Given the description of an element on the screen output the (x, y) to click on. 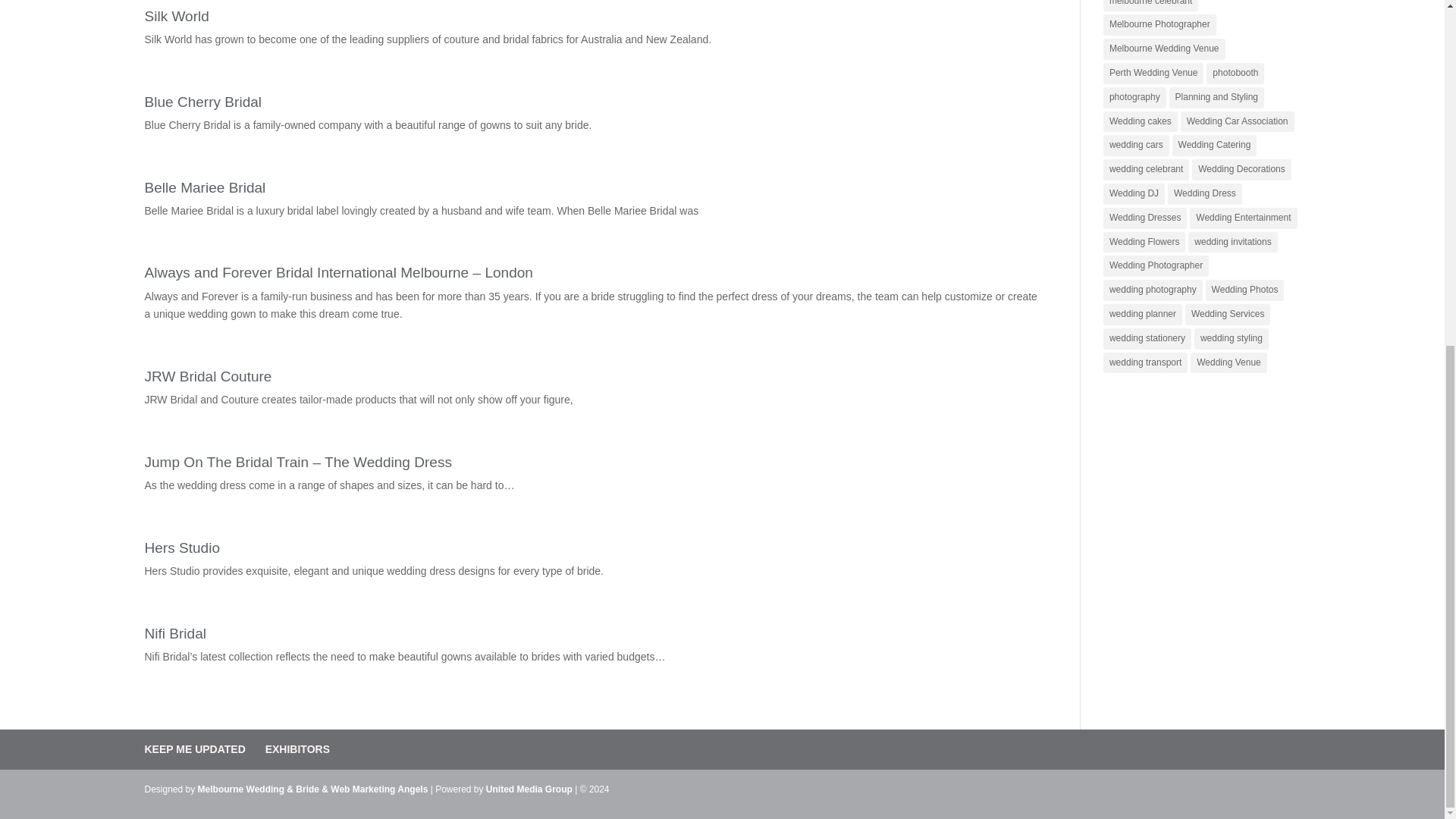
Blue Cherry Bridal (203, 101)
Melbourne Wedding and Bride Services (529, 788)
JRW Bridal Couture (207, 376)
Melbourne Digital Marketing Services (379, 788)
Hers Studio (181, 547)
Nifi Bridal (175, 633)
Belle Mariee Bridal (204, 187)
Silk World (176, 16)
